Given the description of an element on the screen output the (x, y) to click on. 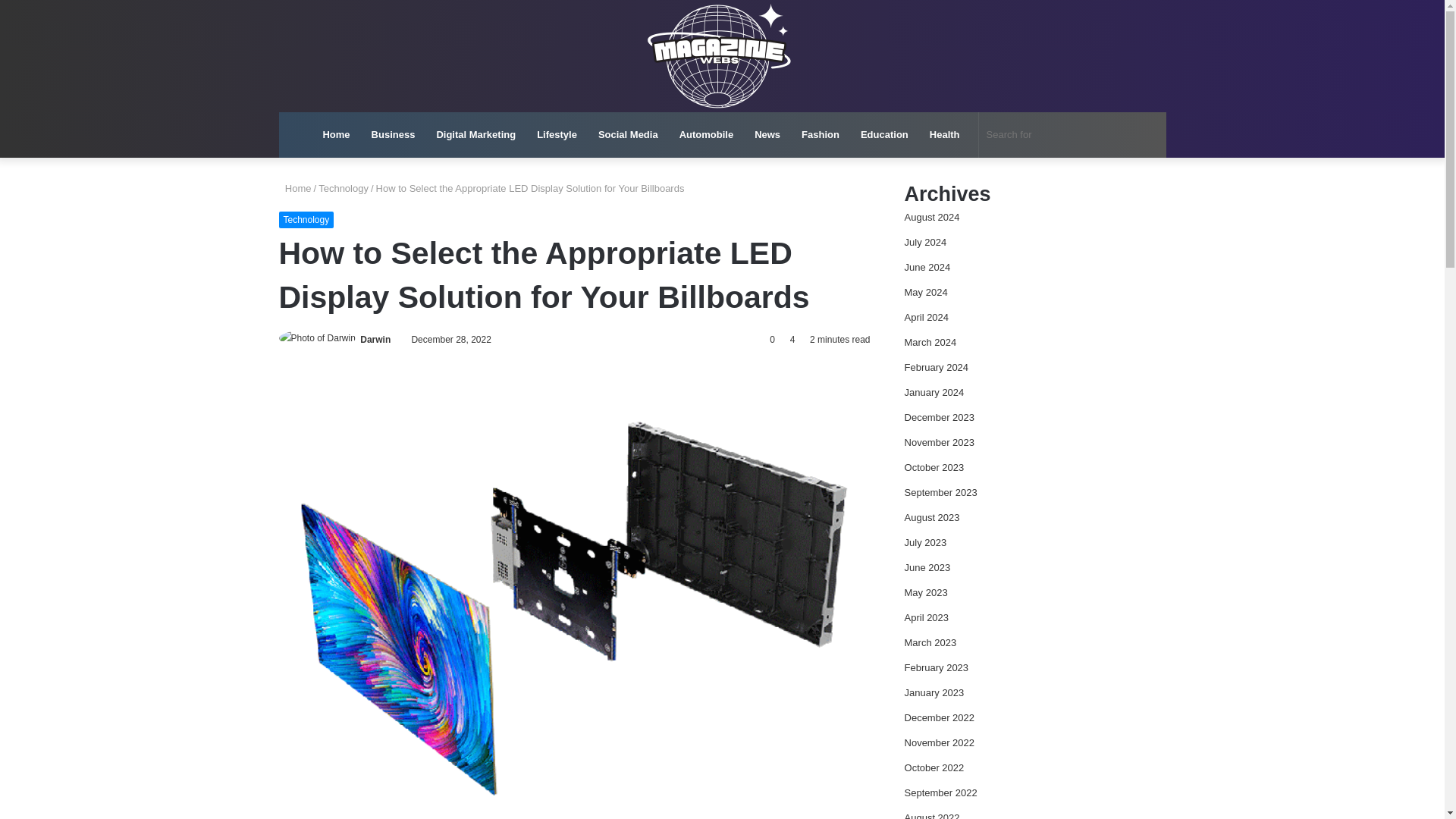
News (767, 135)
Technology (343, 188)
Digital Marketing (475, 135)
Home (295, 188)
Darwin (374, 339)
Home (335, 135)
Lifestyle (556, 135)
Social Media (628, 135)
Health (944, 135)
Search for (1055, 135)
